Given the description of an element on the screen output the (x, y) to click on. 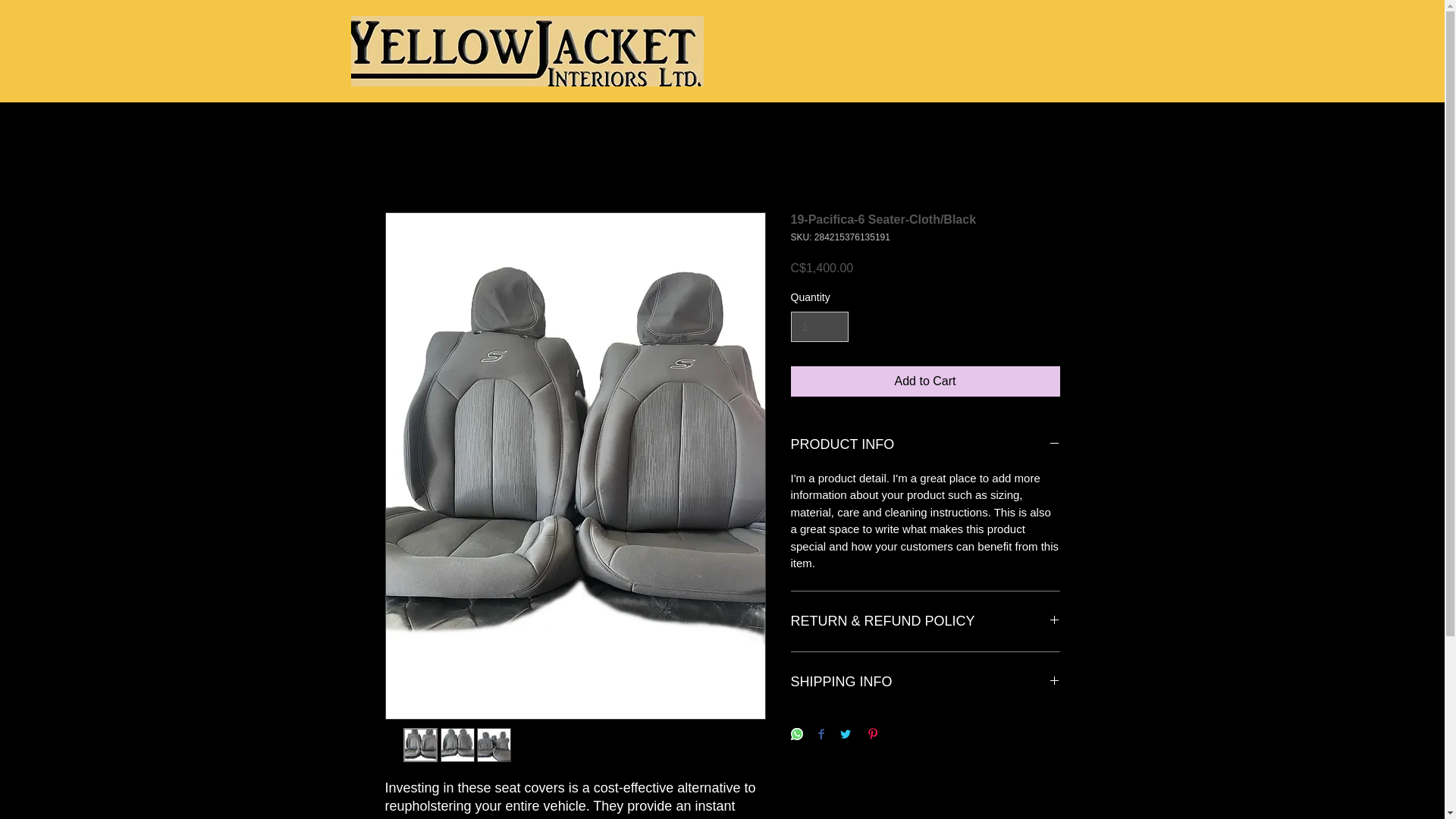
Add to Cart (924, 381)
Bee2--newtrademark---yellowjacket-Recove (526, 50)
SHIPPING INFO (924, 682)
1 (818, 327)
PRODUCT INFO (924, 445)
